Given the description of an element on the screen output the (x, y) to click on. 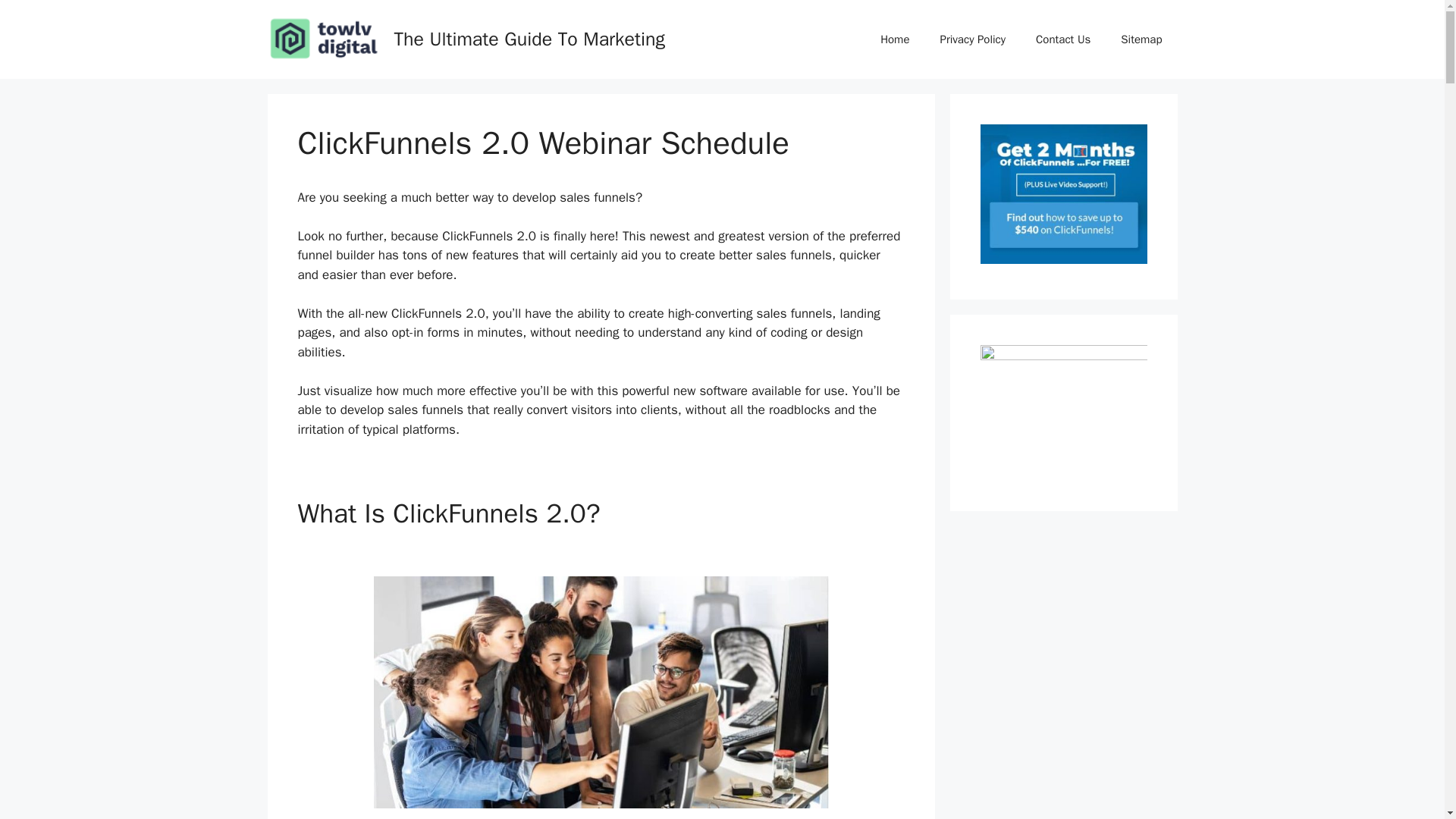
Privacy Policy (972, 39)
The Ultimate Guide To Marketing (529, 38)
Sitemap (1140, 39)
Home (894, 39)
Contact Us (1062, 39)
